Given the description of an element on the screen output the (x, y) to click on. 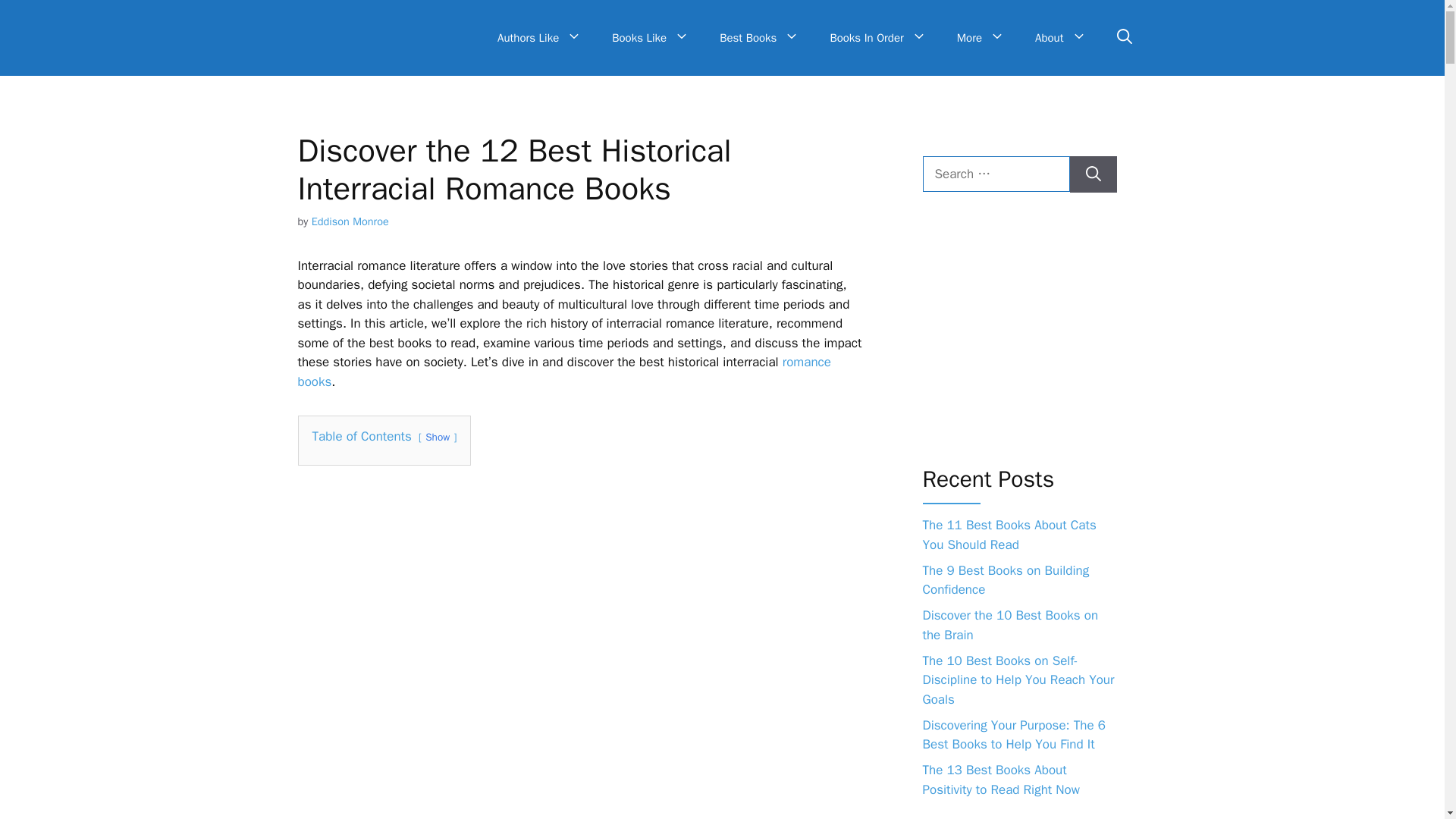
Best Books (758, 37)
Authors Like (538, 37)
View all posts by Eddison Monroe (349, 221)
Books Like (650, 37)
